Given the description of an element on the screen output the (x, y) to click on. 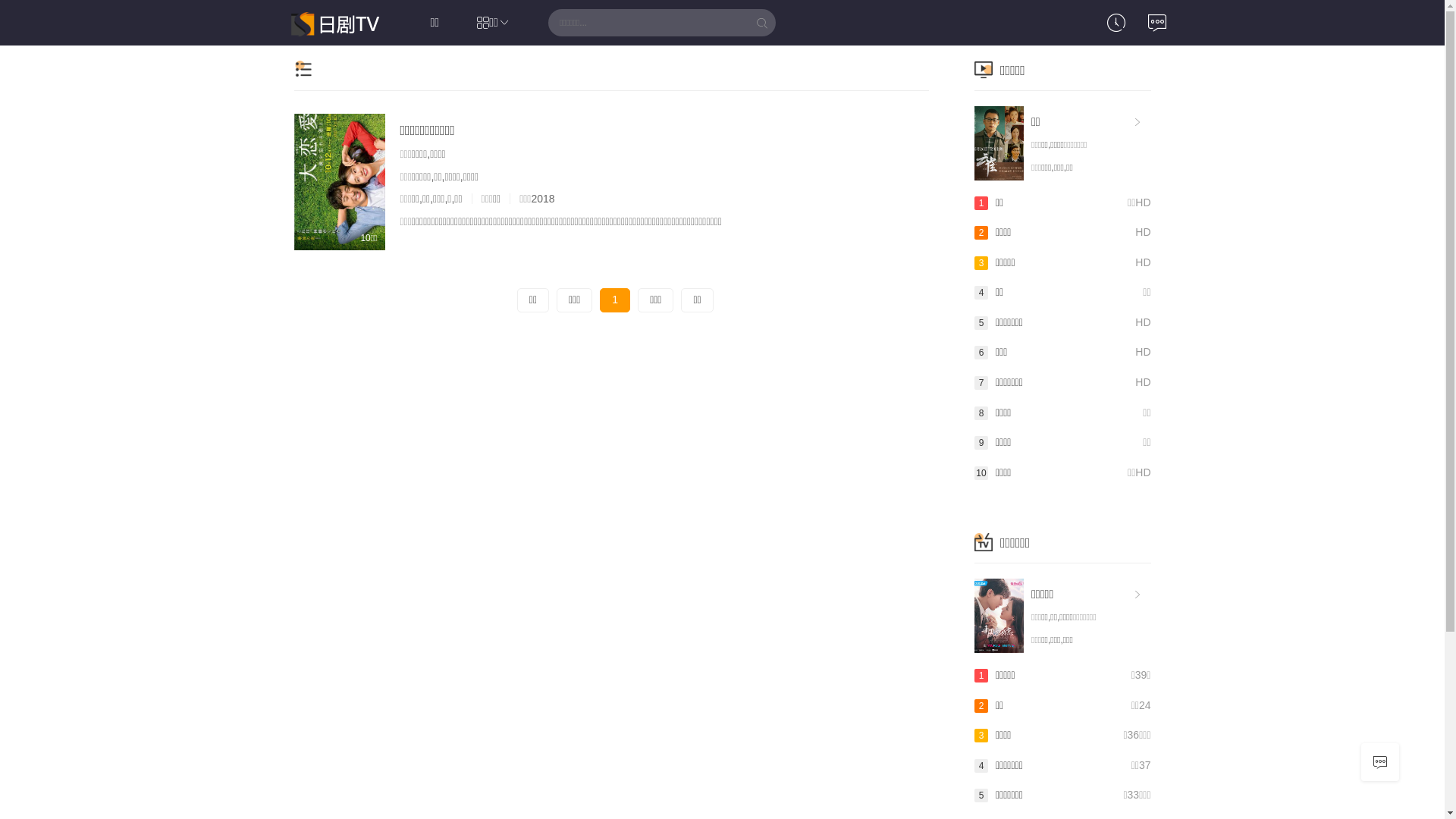
1 Element type: text (614, 300)
